Given the description of an element on the screen output the (x, y) to click on. 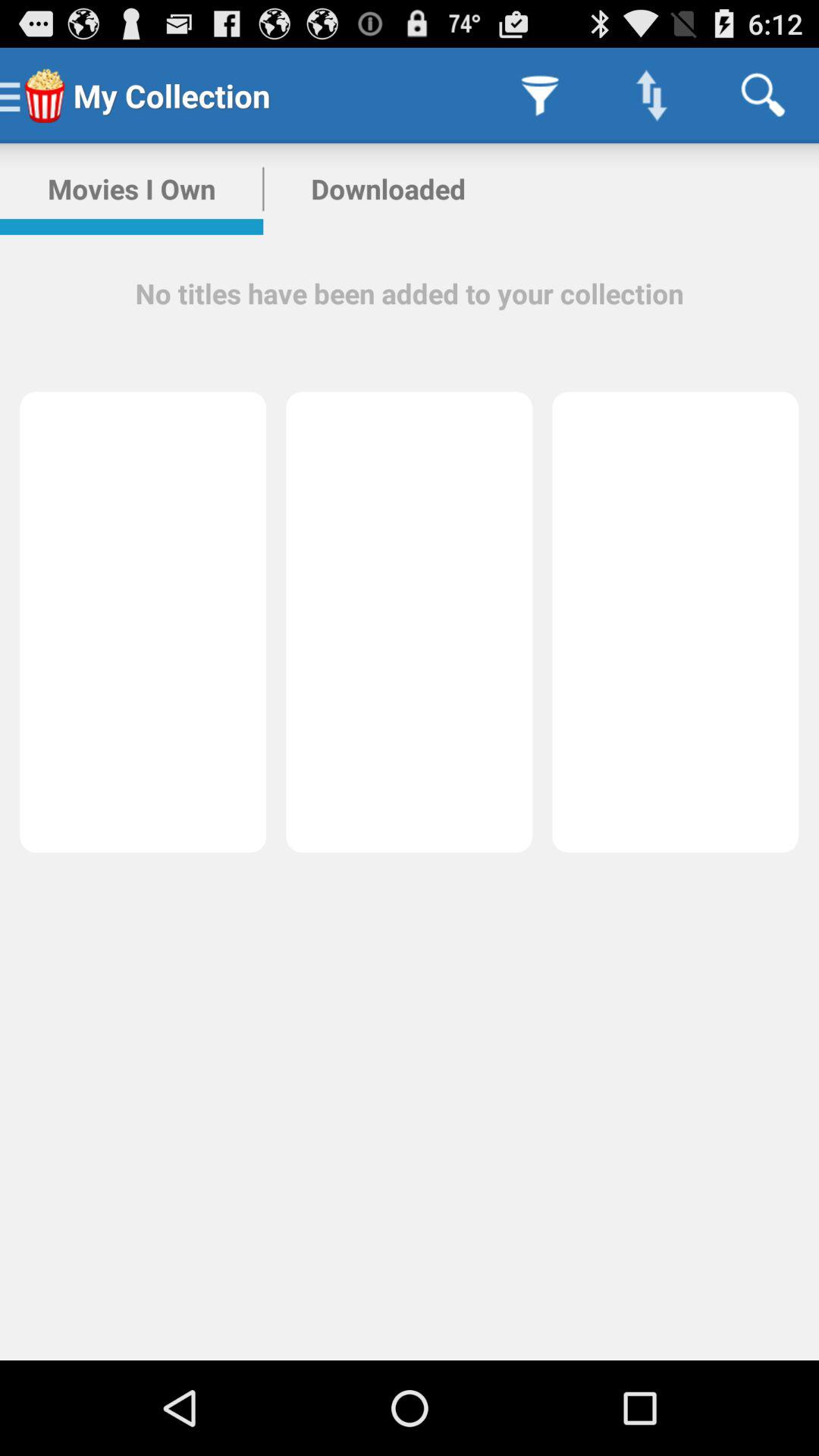
jump until the movies i own app (131, 188)
